Given the description of an element on the screen output the (x, y) to click on. 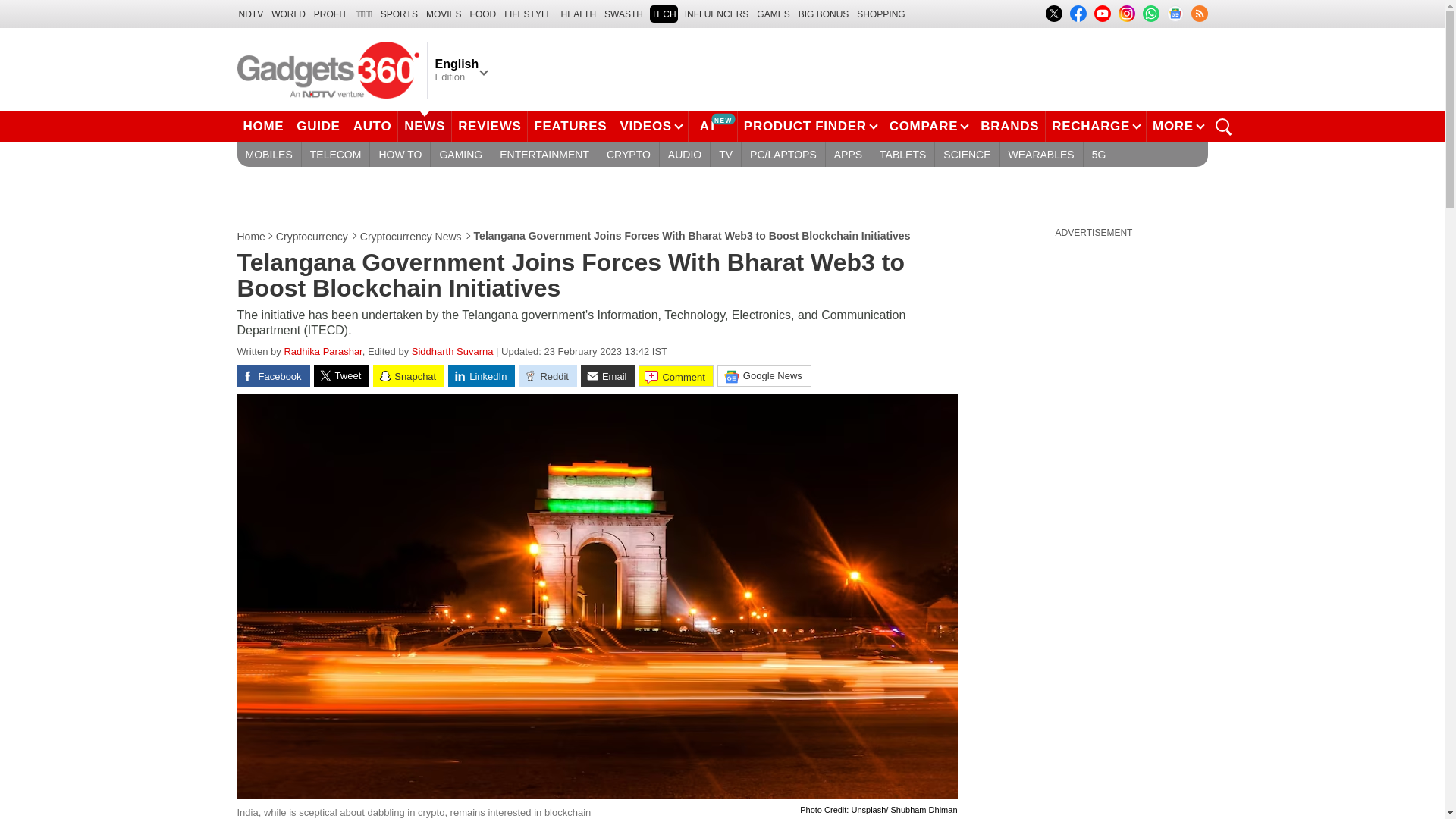
Influencers (716, 13)
TECH (663, 13)
SWASTH (623, 13)
NDTV (249, 13)
REVIEWS (489, 126)
GUIDE (317, 126)
WORLD (288, 13)
FEATURES (569, 126)
INFLUENCERS (716, 13)
NEWS (424, 126)
